Given the description of an element on the screen output the (x, y) to click on. 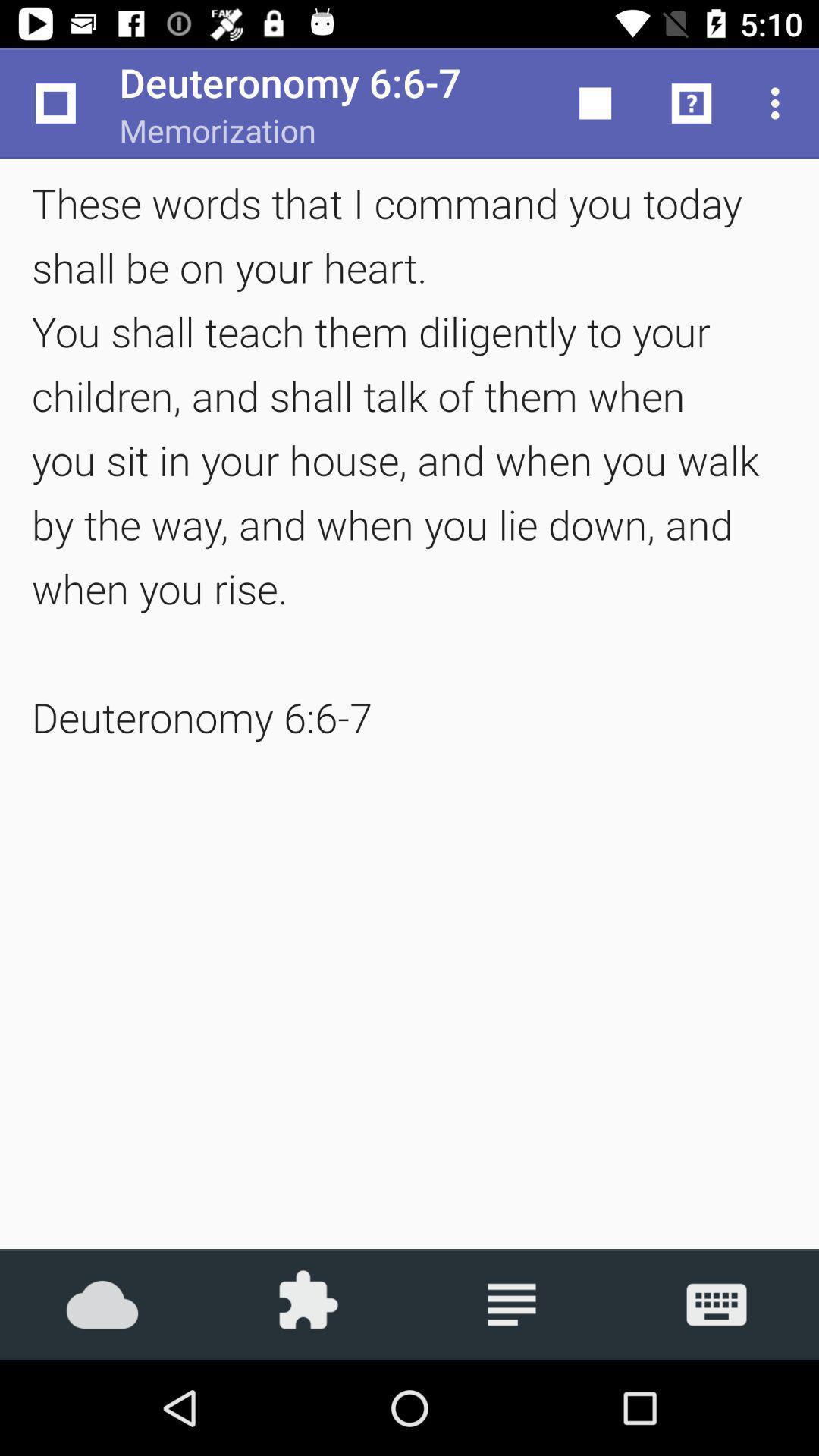
select icon below these words that (716, 1304)
